Given the description of an element on the screen output the (x, y) to click on. 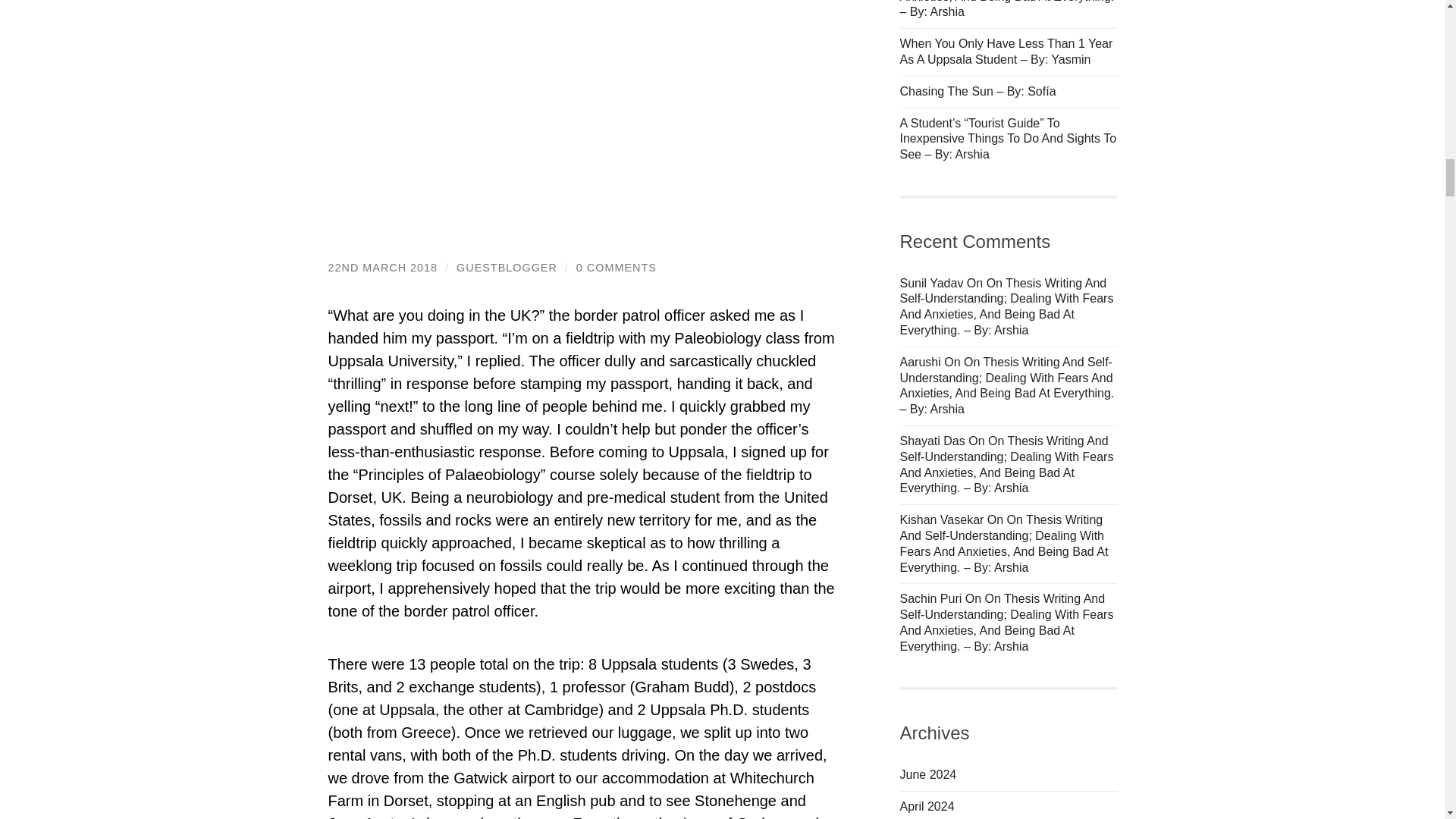
GUESTBLOGGER (507, 267)
Posts by Guestblogger (507, 267)
22ND MARCH 2018 (382, 267)
0 COMMENTS (616, 267)
